Given the description of an element on the screen output the (x, y) to click on. 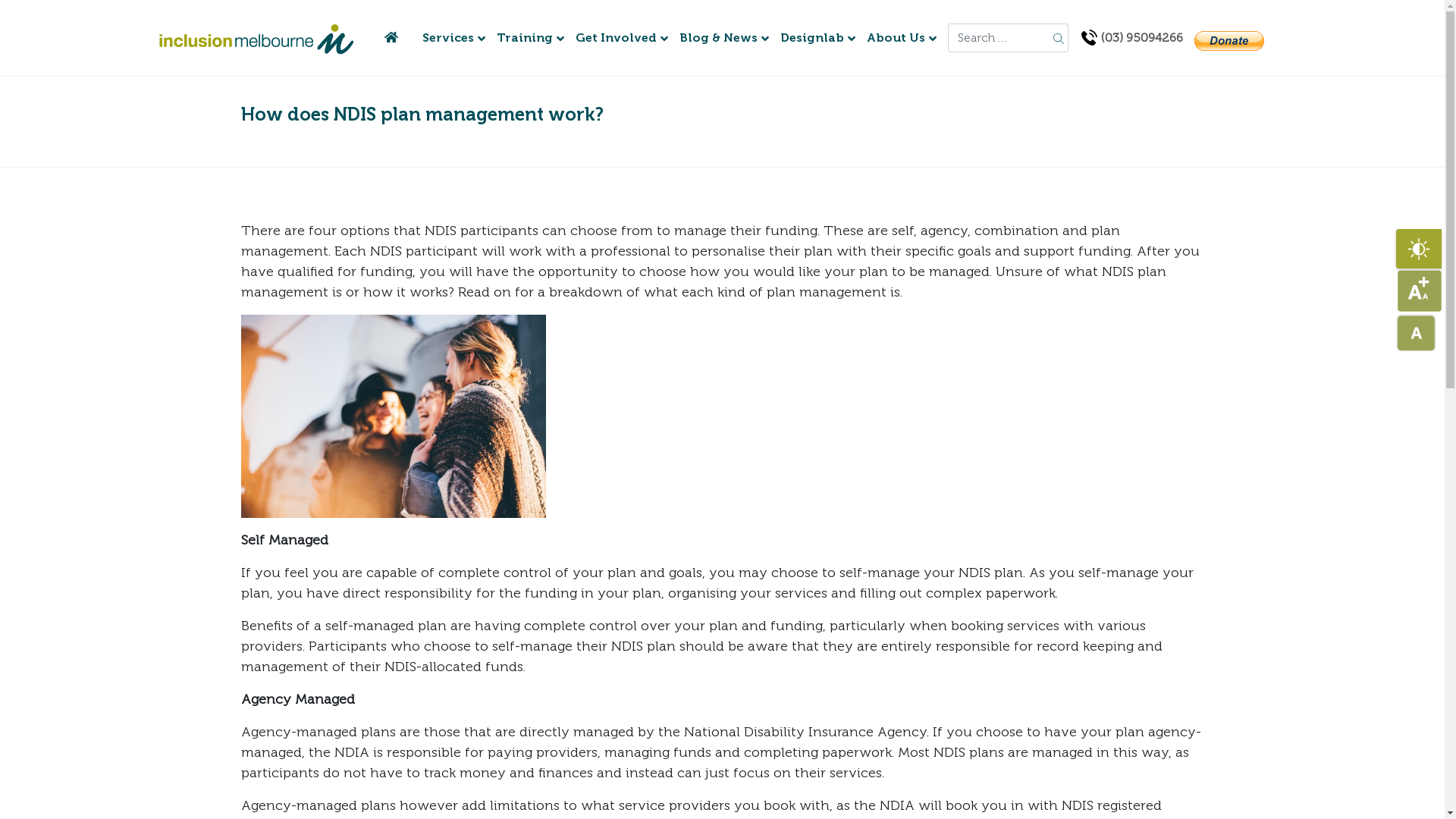
home Element type: hover (391, 37)
Training Element type: text (524, 37)
About Us Element type: text (895, 37)
Designlab Element type: text (811, 37)
Services Element type: text (448, 37)
(03) 95094266 Element type: text (1131, 37)
Blog & News Element type: text (718, 37)
High contrast Element type: hover (1418, 248)
Get Involved Element type: text (616, 37)
PayPal - The safer, easier way to pay online! Element type: hover (1229, 40)
